Given the description of an element on the screen output the (x, y) to click on. 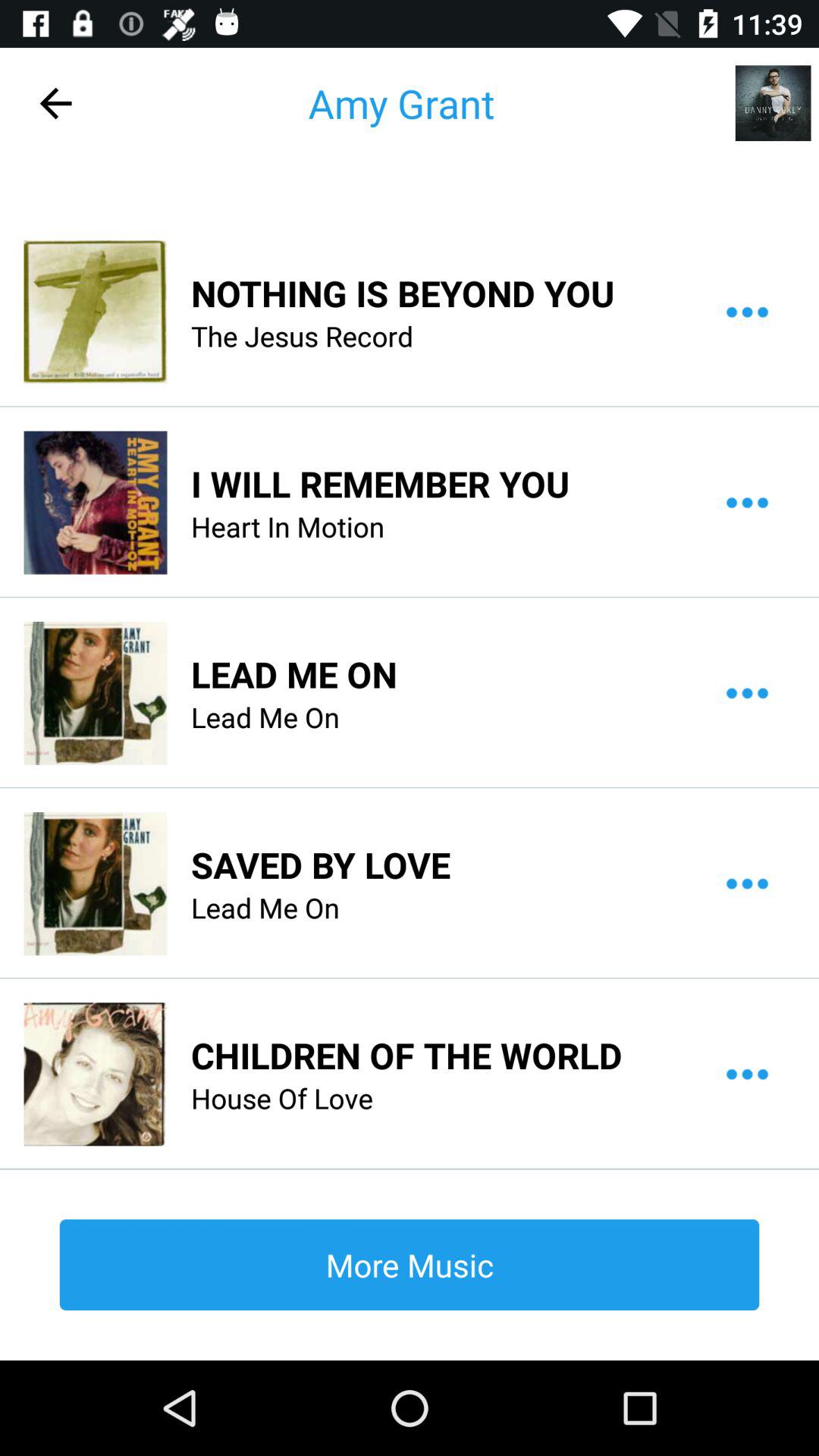
click item next to nothing is beyond icon (95, 311)
